Given the description of an element on the screen output the (x, y) to click on. 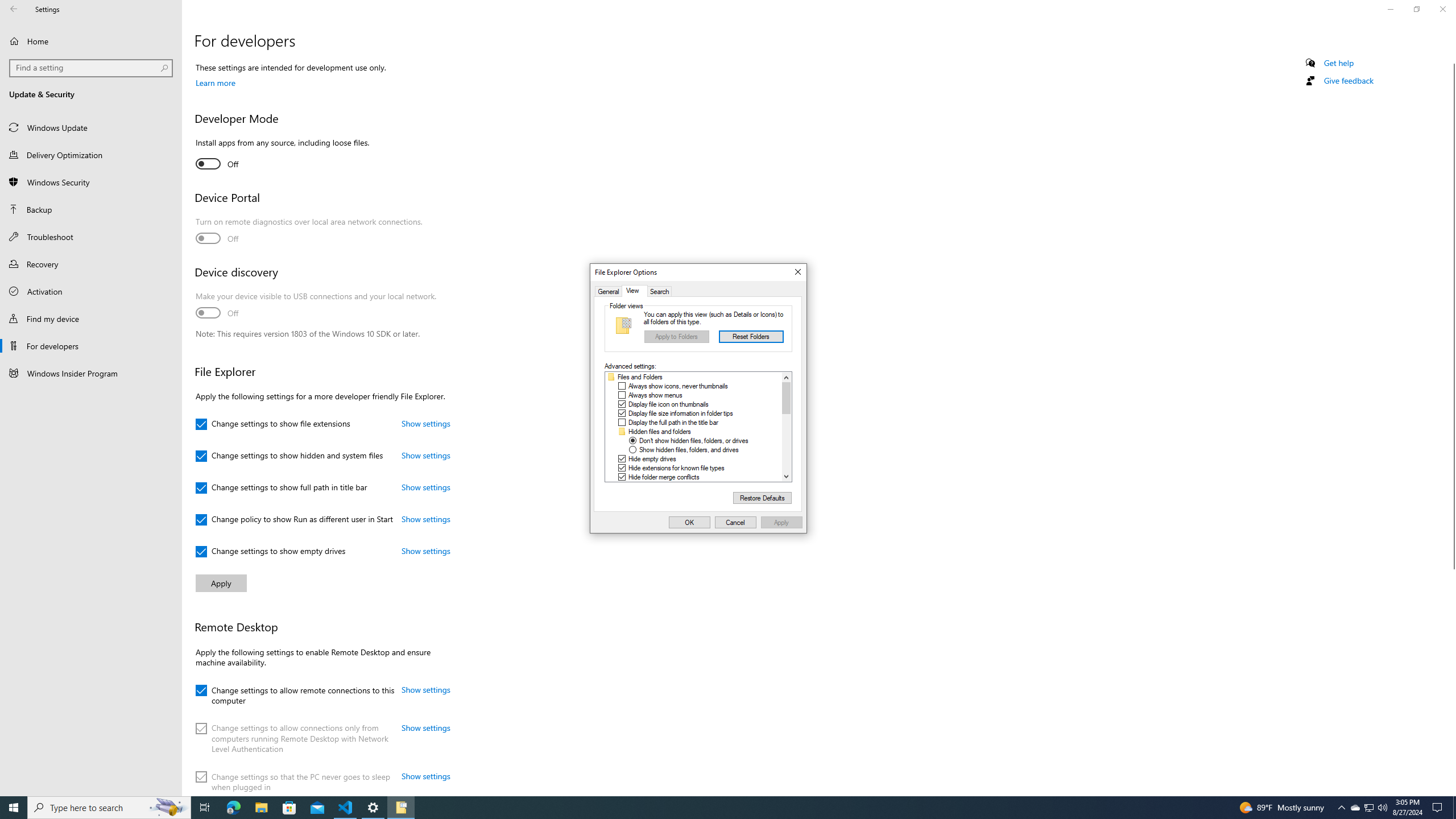
Page down (785, 442)
Display file size information in folder tips (680, 412)
Microsoft Store (289, 807)
File Explorer Options - 1 running window (400, 807)
Files and Folders (639, 376)
Hidden files and folders (659, 431)
Action Center, No new notifications (1439, 807)
Hide folder merge conflicts (663, 476)
Search (659, 290)
Cancel (735, 522)
Apply to Folders (676, 336)
Settings - 1 running window (373, 807)
Always show icons, never thumbnails (678, 385)
